Given the description of an element on the screen output the (x, y) to click on. 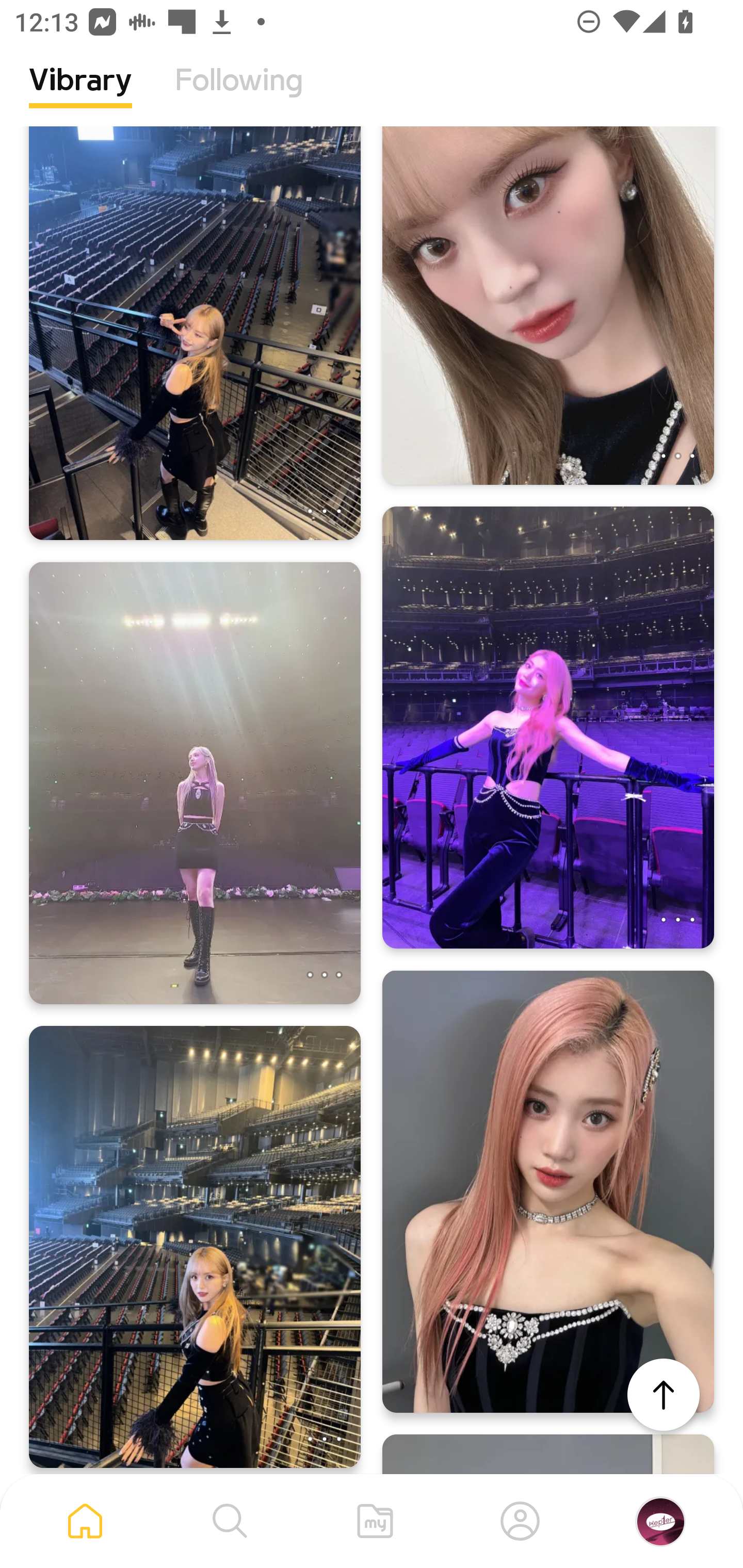
Vibrary (80, 95)
Following (239, 95)
